Given the description of an element on the screen output the (x, y) to click on. 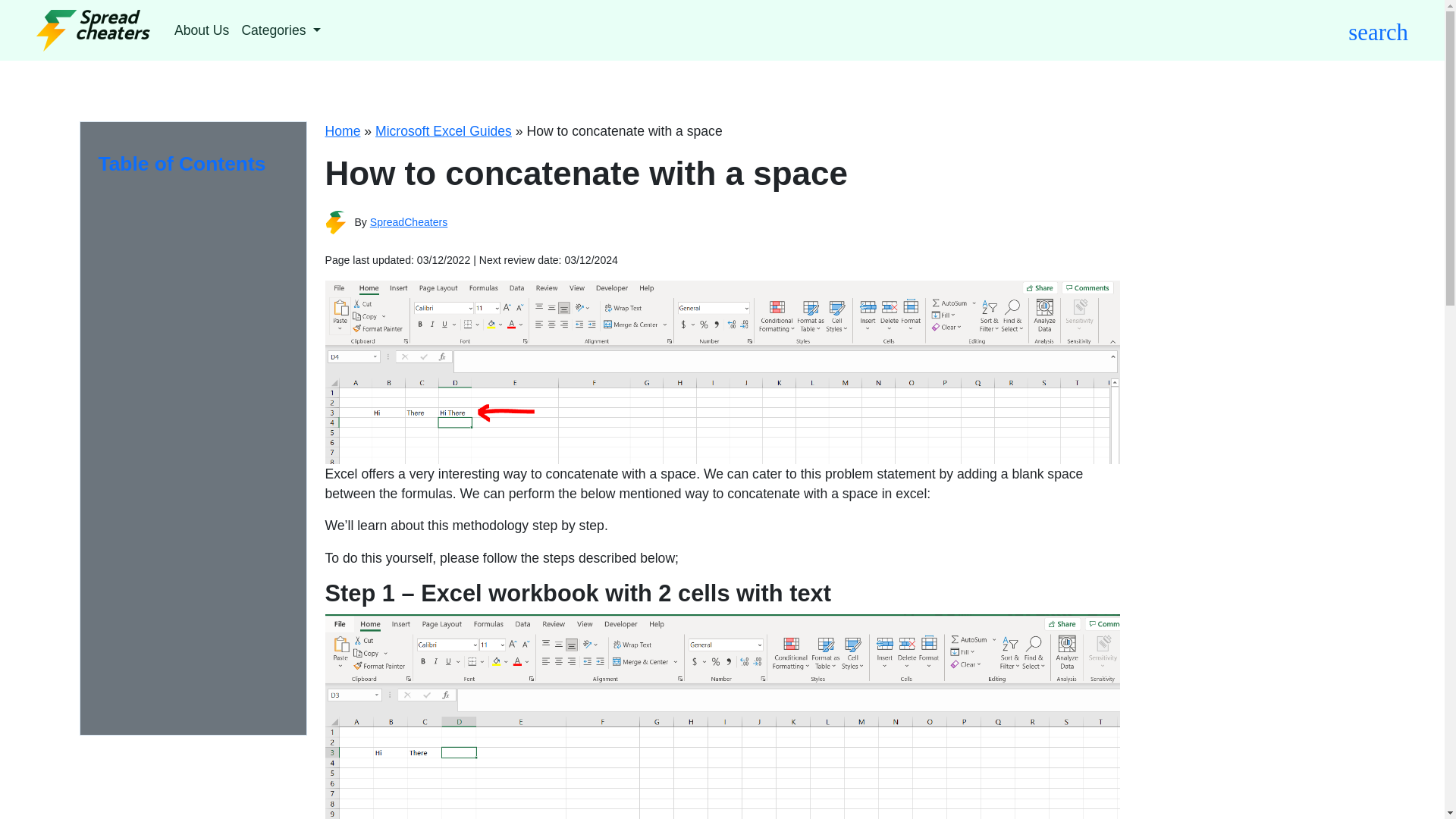
Categories (280, 29)
search (1377, 30)
About Us (201, 29)
Home (341, 130)
Search (901, 94)
SpreadCheaters (408, 222)
Microsoft Excel Guides (443, 130)
